Given the description of an element on the screen output the (x, y) to click on. 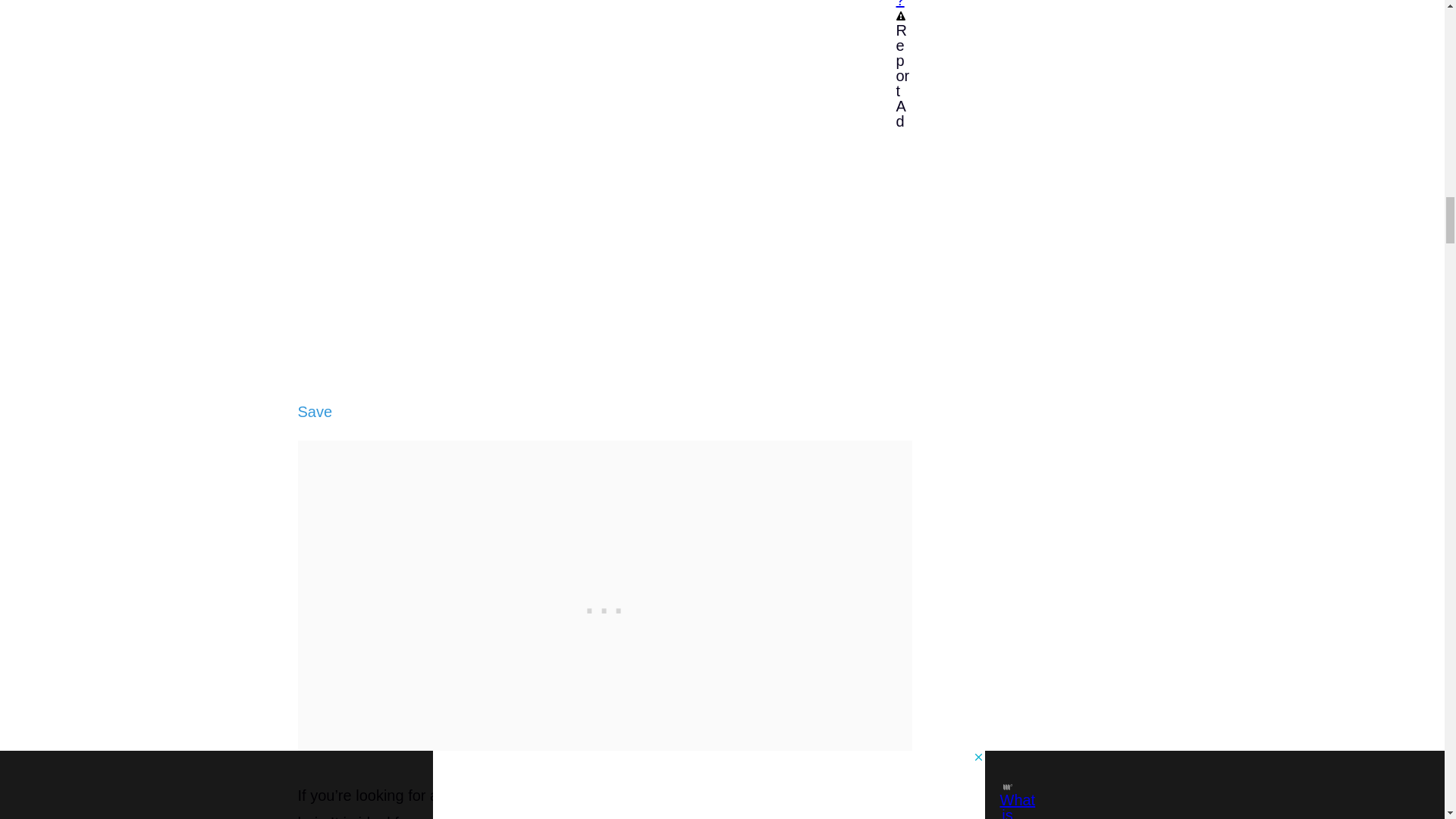
Save (314, 411)
